Given the description of an element on the screen output the (x, y) to click on. 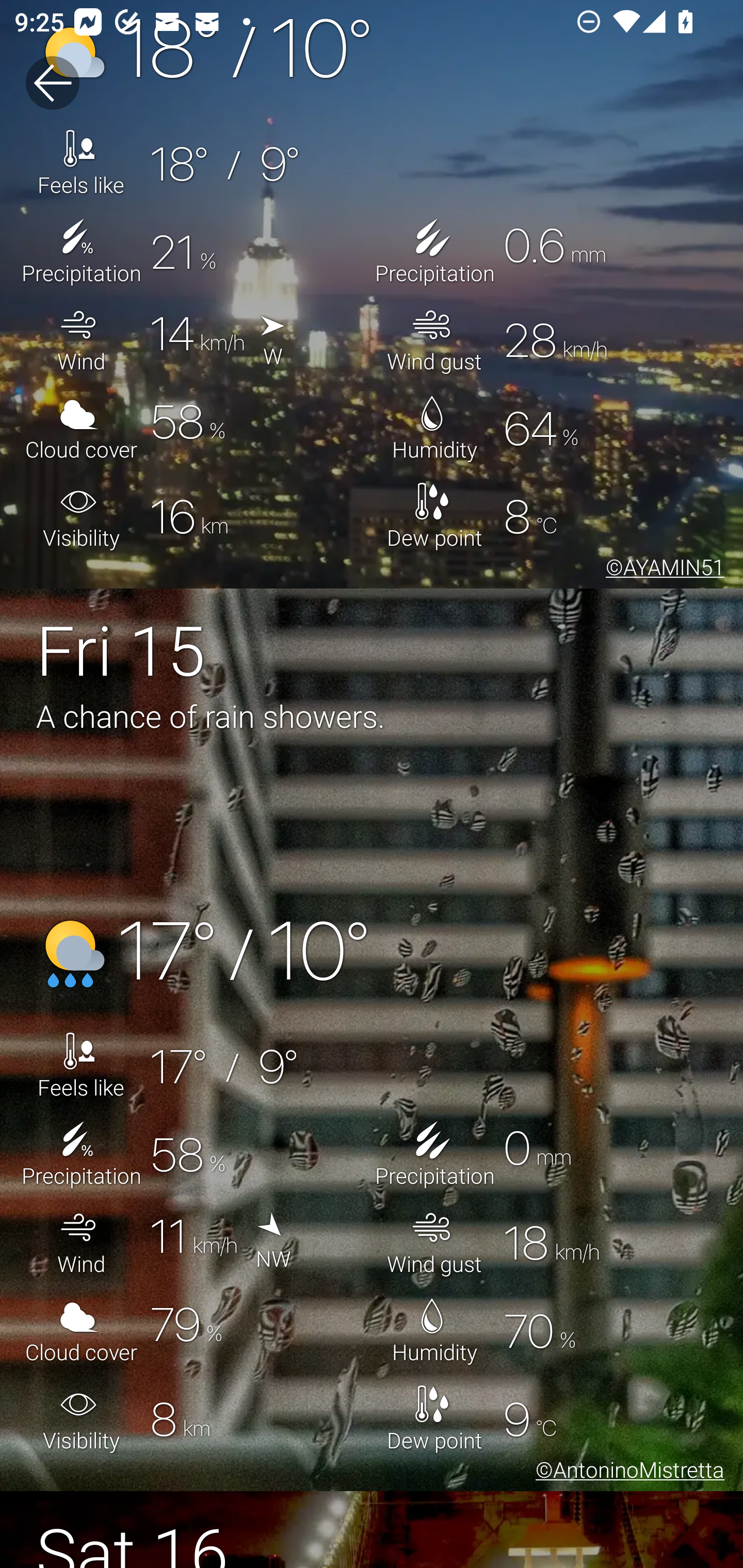
©AYAMIN51 (661, 569)
©AntoninoMistretta (626, 1473)
